Given the description of an element on the screen output the (x, y) to click on. 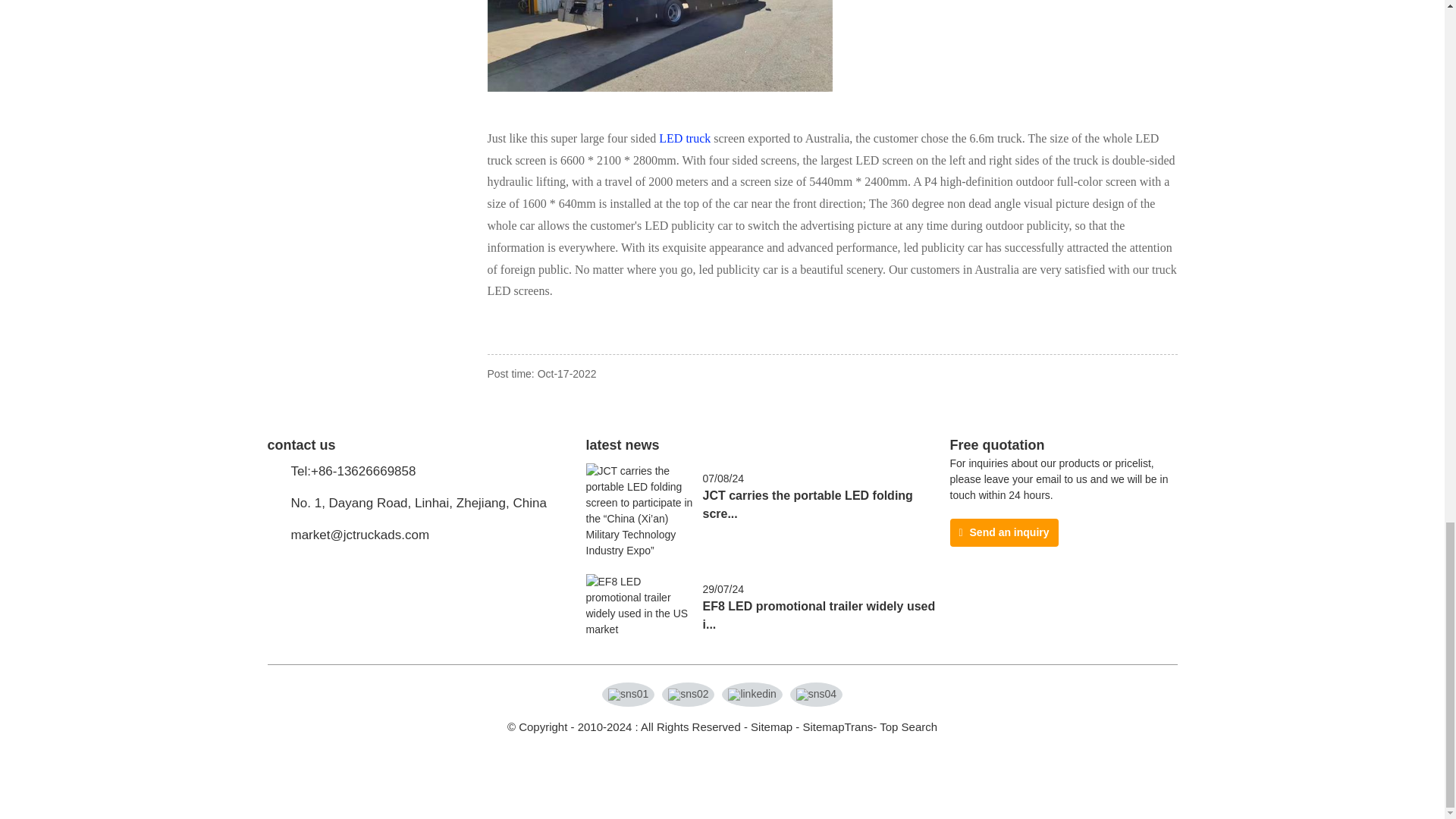
JCT carries the portable LED folding scre... (806, 504)
LED truck (684, 137)
EF8 LED promotional trailer widely used i... (817, 614)
